Given the description of an element on the screen output the (x, y) to click on. 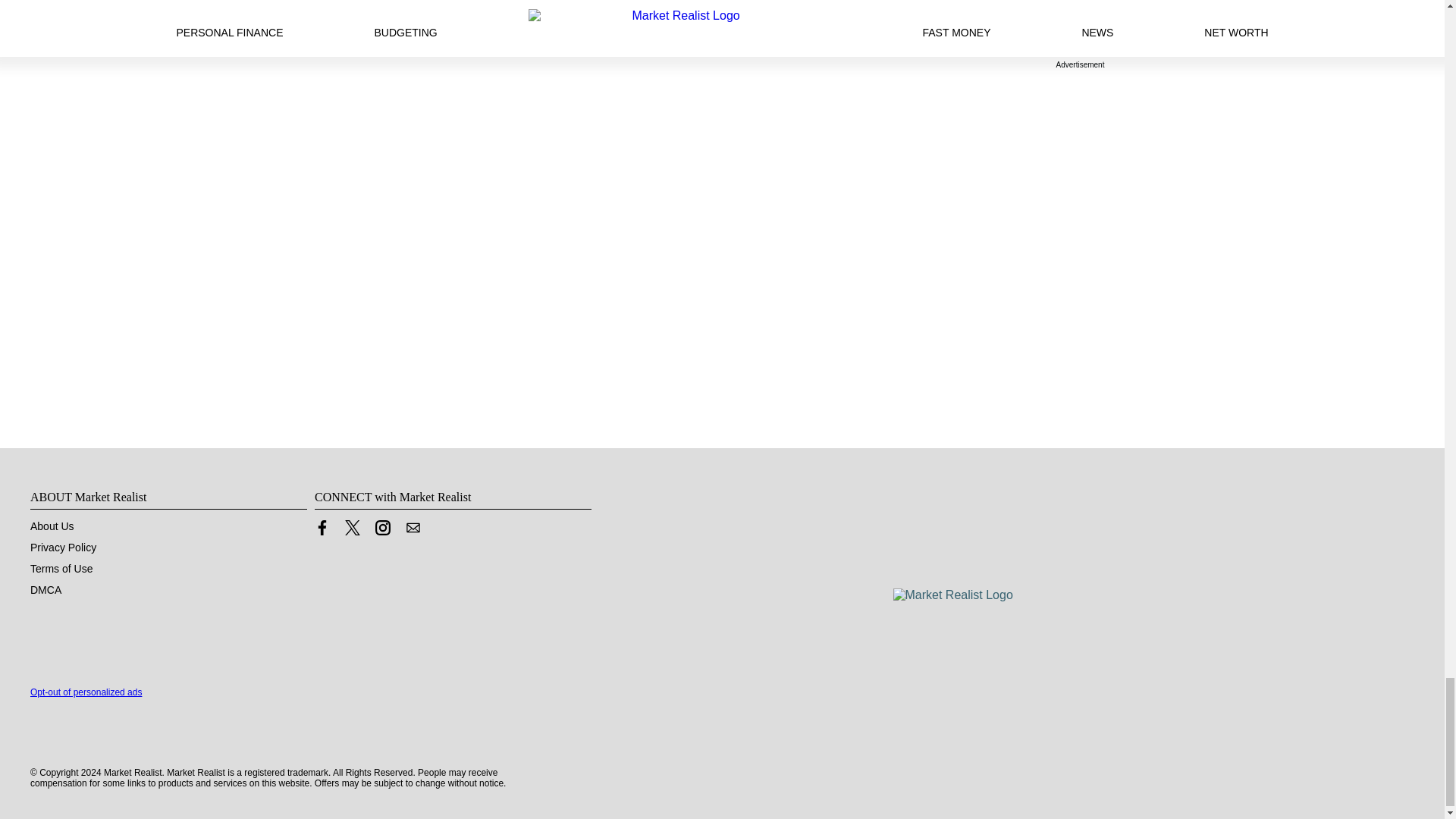
Link to X (352, 527)
Contact us by Email (413, 527)
Link to Facebook (322, 531)
Link to Instagram (382, 531)
Link to Facebook (322, 527)
Privacy Policy (63, 547)
Opt-out of personalized ads (85, 692)
Privacy Policy (63, 547)
About Us (52, 526)
Contact us by Email (413, 531)
DMCA (45, 589)
Terms of Use (61, 568)
DMCA (45, 589)
About Us (52, 526)
Link to X (352, 531)
